Given the description of an element on the screen output the (x, y) to click on. 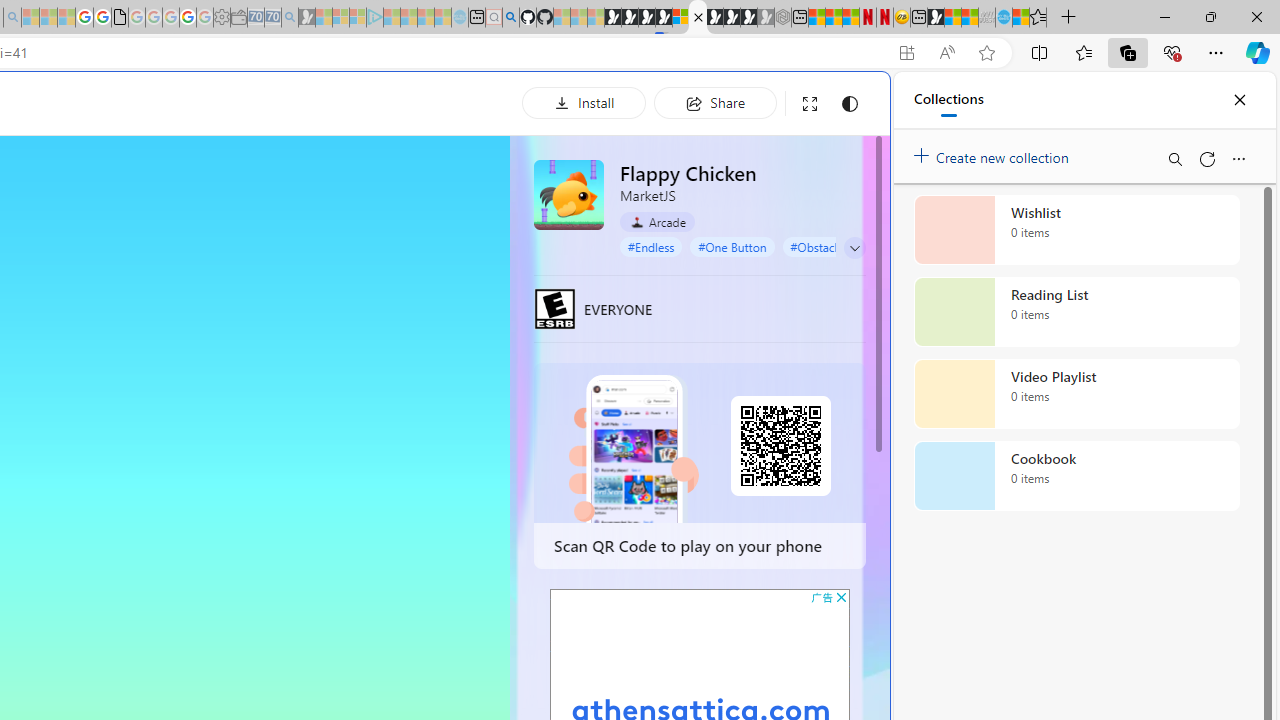
Class: control (855, 248)
Close split screen (844, 102)
More options menu (1238, 158)
Wishlist collection, 0 items (1076, 229)
#Endless (651, 246)
